Given the description of an element on the screen output the (x, y) to click on. 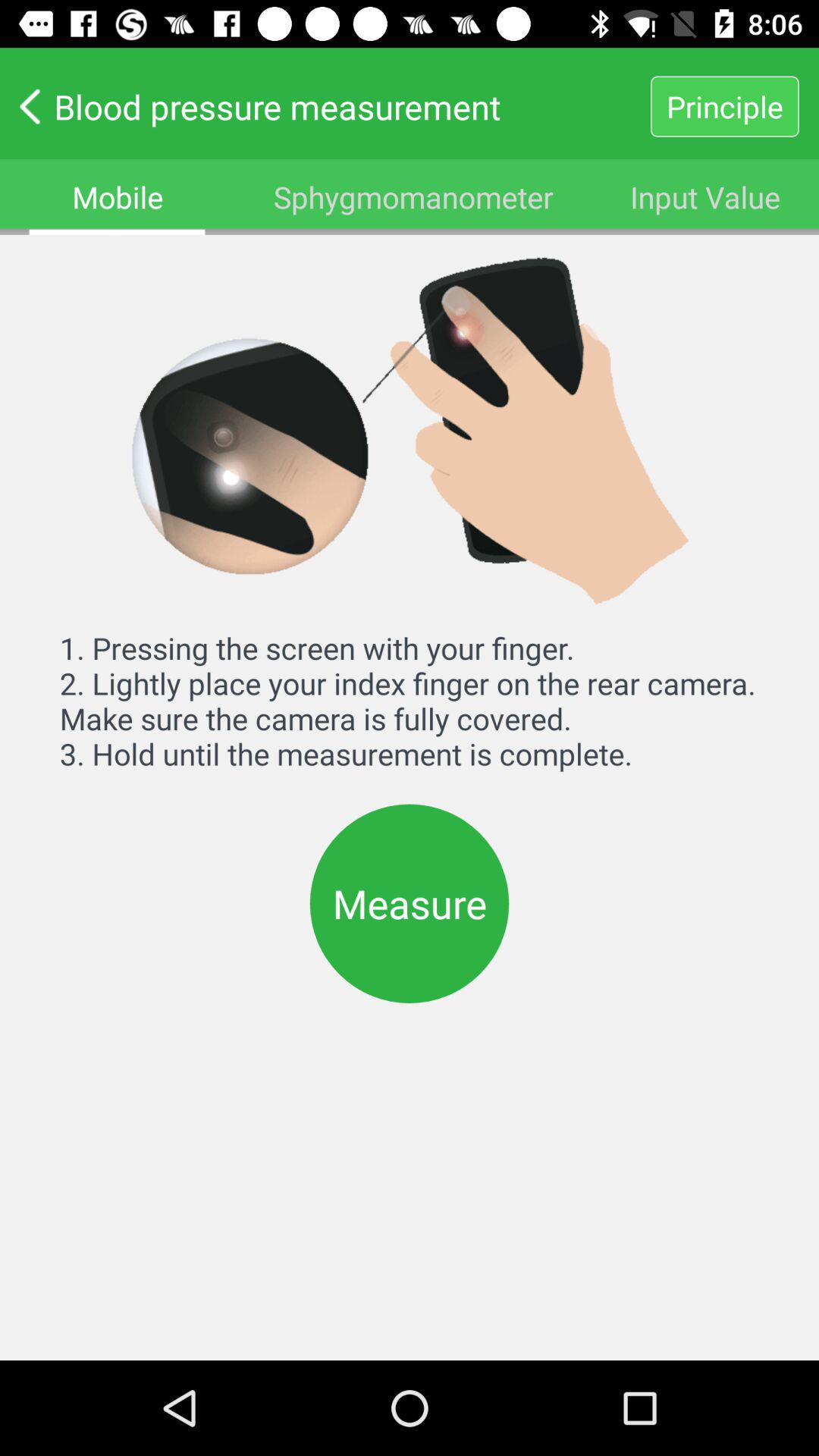
scroll until the input value (705, 196)
